Given the description of an element on the screen output the (x, y) to click on. 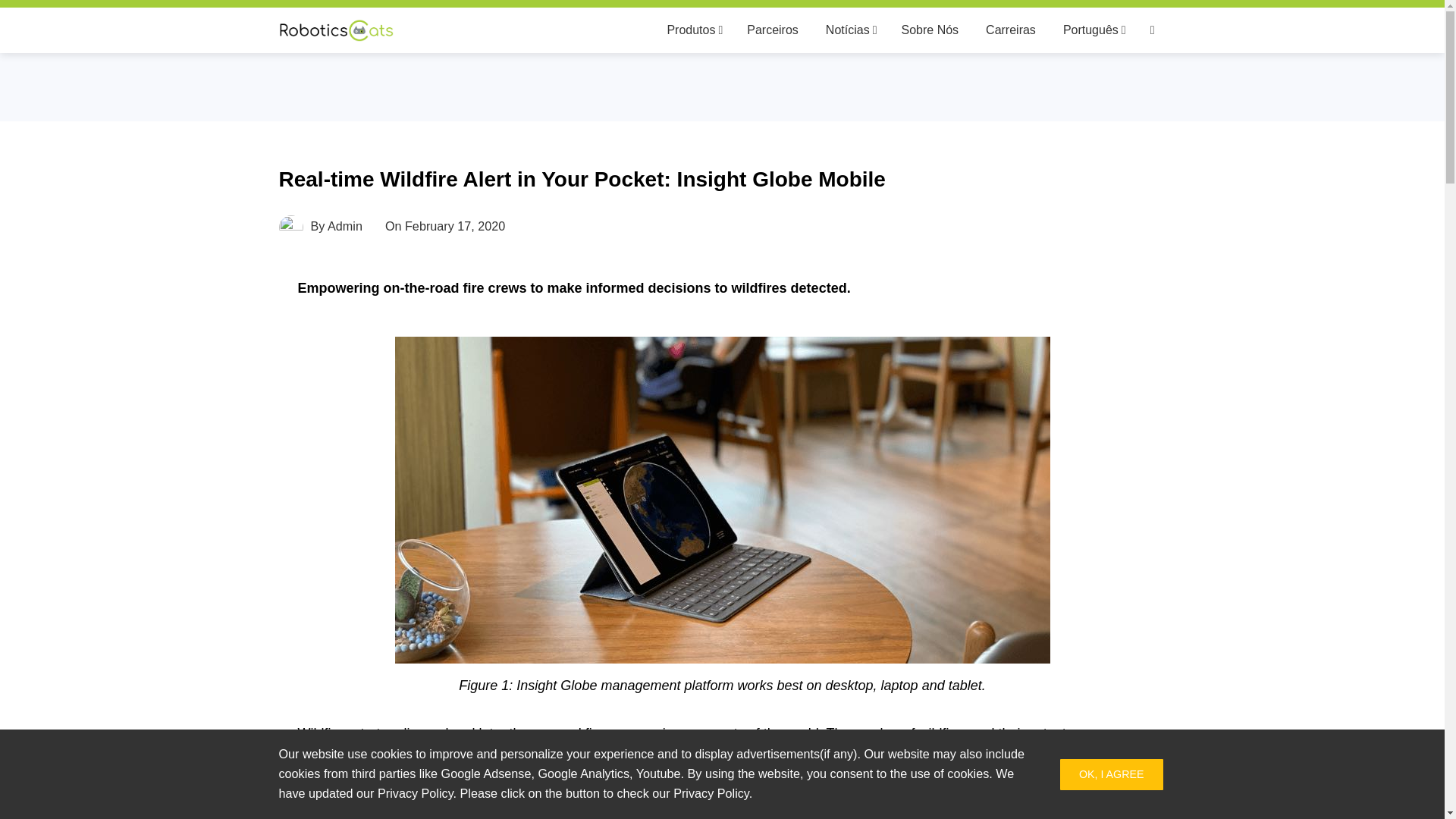
Parceiros (772, 30)
Carreiras (1010, 30)
Produtos (692, 30)
OK, I AGREE (1111, 774)
